Given the description of an element on the screen output the (x, y) to click on. 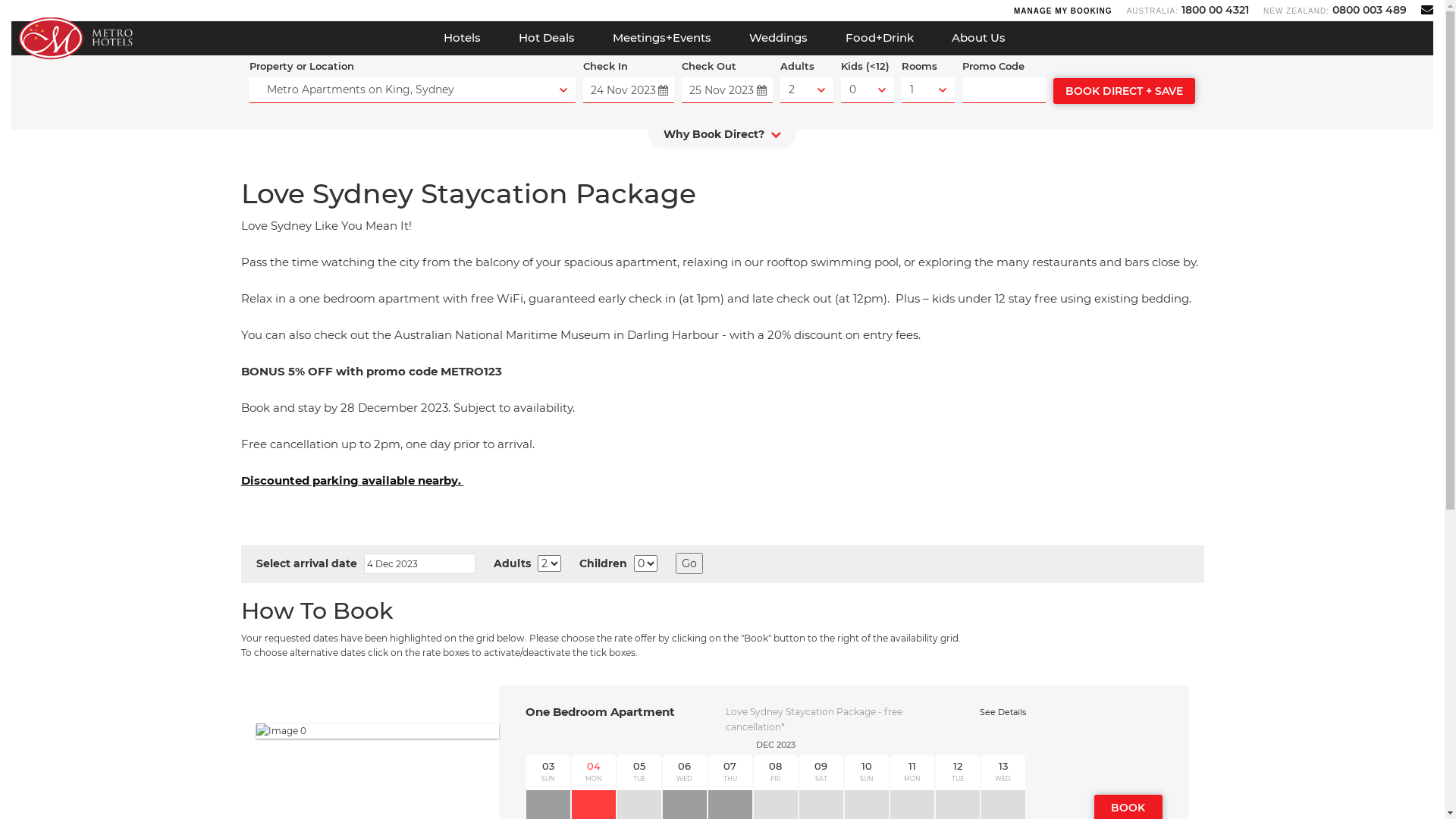
See Details Element type: text (1002, 711)
Discounted parking available nearby.  Element type: text (352, 480)
About Us Element type: text (978, 38)
Food+Drink Element type: text (879, 38)
Contact Us Element type: hover (1427, 9)
Meetings+Events Element type: text (661, 38)
Go Element type: text (688, 563)
Weddings Element type: text (777, 38)
Hot Deals Element type: text (545, 38)
BOOK DIRECT + SAVE Element type: text (1124, 90)
Hotels Element type: text (461, 38)
Why Book Direct? Element type: text (722, 137)
MANAGE MY BOOKING Element type: text (1062, 10)
